Given the description of an element on the screen output the (x, y) to click on. 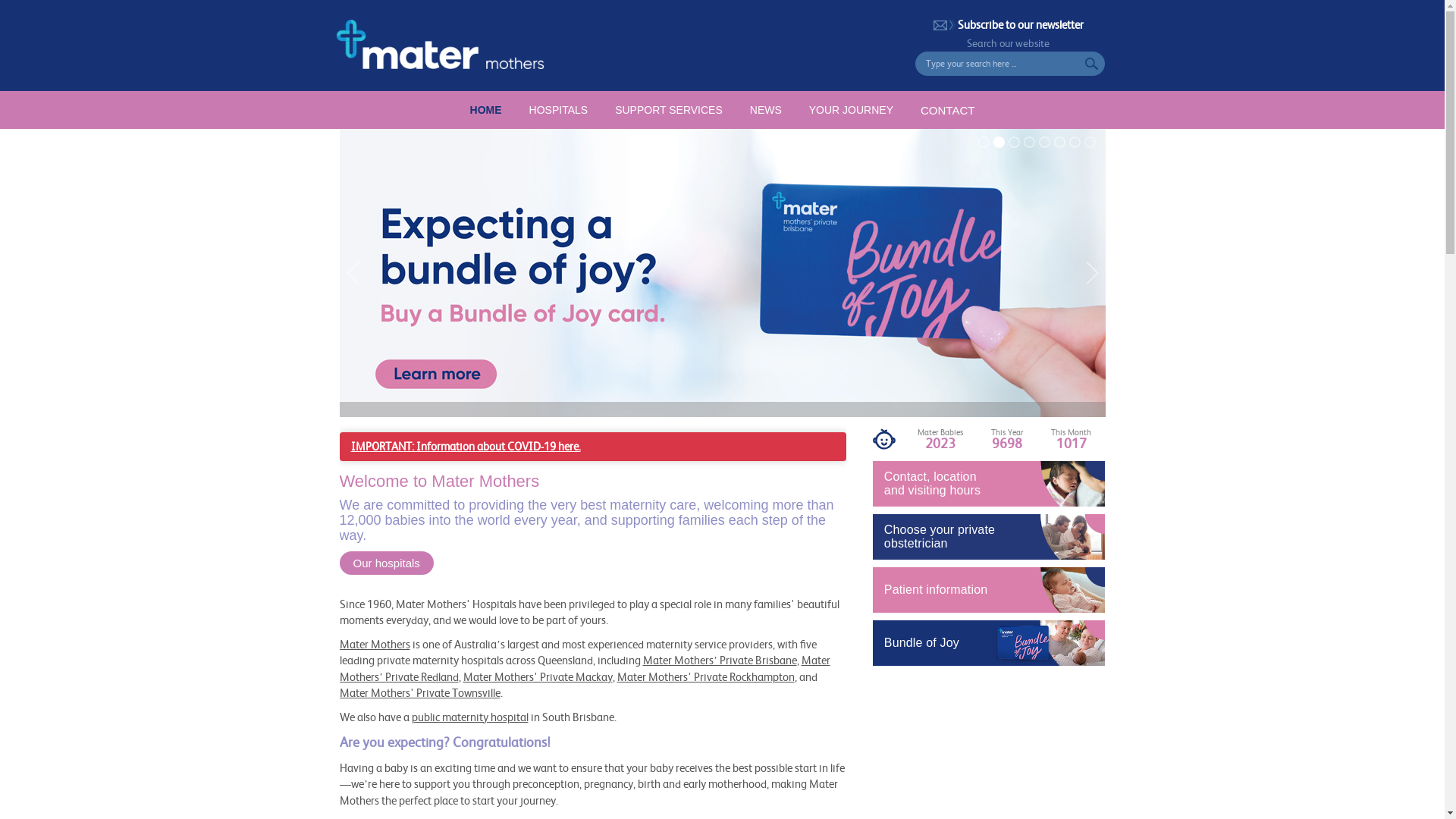
IMPORTANT: Information about COVID-19 here. Element type: text (465, 446)
Choose your private
obstetrician Element type: text (988, 536)
Search Element type: text (1094, 63)
NEWS Element type: text (765, 109)
YOUR JOURNEY Element type: text (851, 109)
CONTACT Element type: text (947, 110)
Mater Mothers Element type: text (374, 644)
SUPPORT SERVICES Element type: text (668, 109)
Mater Mothers' Private Townsville Element type: text (419, 692)
HOSPITALS Element type: text (558, 109)
Mater Mothers' Private Mackay Element type: text (536, 676)
HOME Element type: text (486, 109)
Patient information Element type: text (988, 589)
Subscribe to our newsletter Element type: text (1008, 24)
public maternity hospital Element type: text (469, 716)
Contact, location
and visiting hours Element type: text (988, 483)
Our hospitals Element type: text (386, 562)
Bundle of Joy Element type: text (988, 642)
Mater Mothers' Private Rockhampton Element type: text (705, 676)
